Given the description of an element on the screen output the (x, y) to click on. 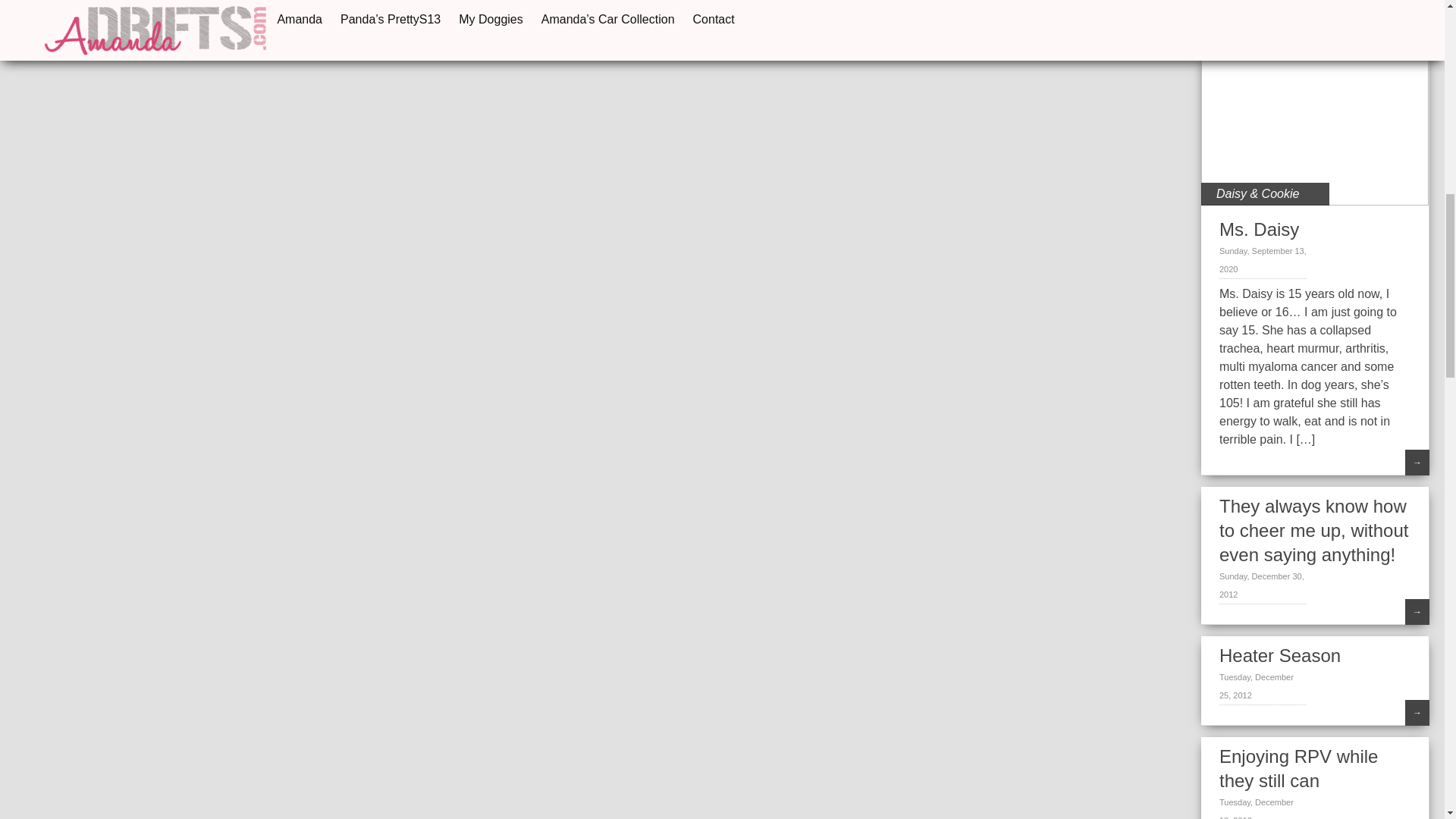
Heater Season (1280, 655)
Ms. Daisy (1259, 229)
Enjoying RPV while they still can (1298, 768)
